Given the description of an element on the screen output the (x, y) to click on. 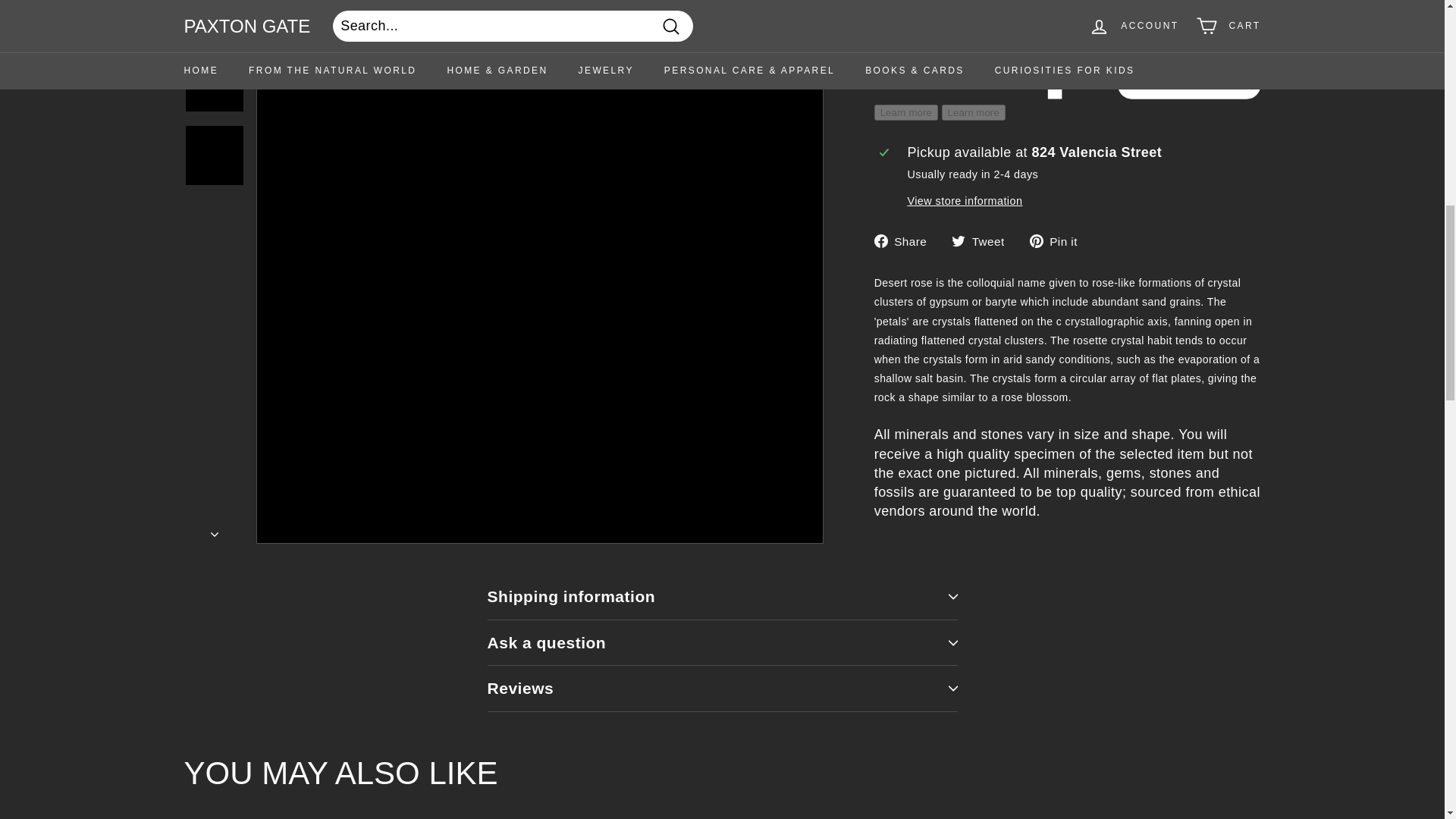
Pin on Pinterest (1059, 240)
Tweet on Twitter (984, 240)
Share on Facebook (907, 240)
